Given the description of an element on the screen output the (x, y) to click on. 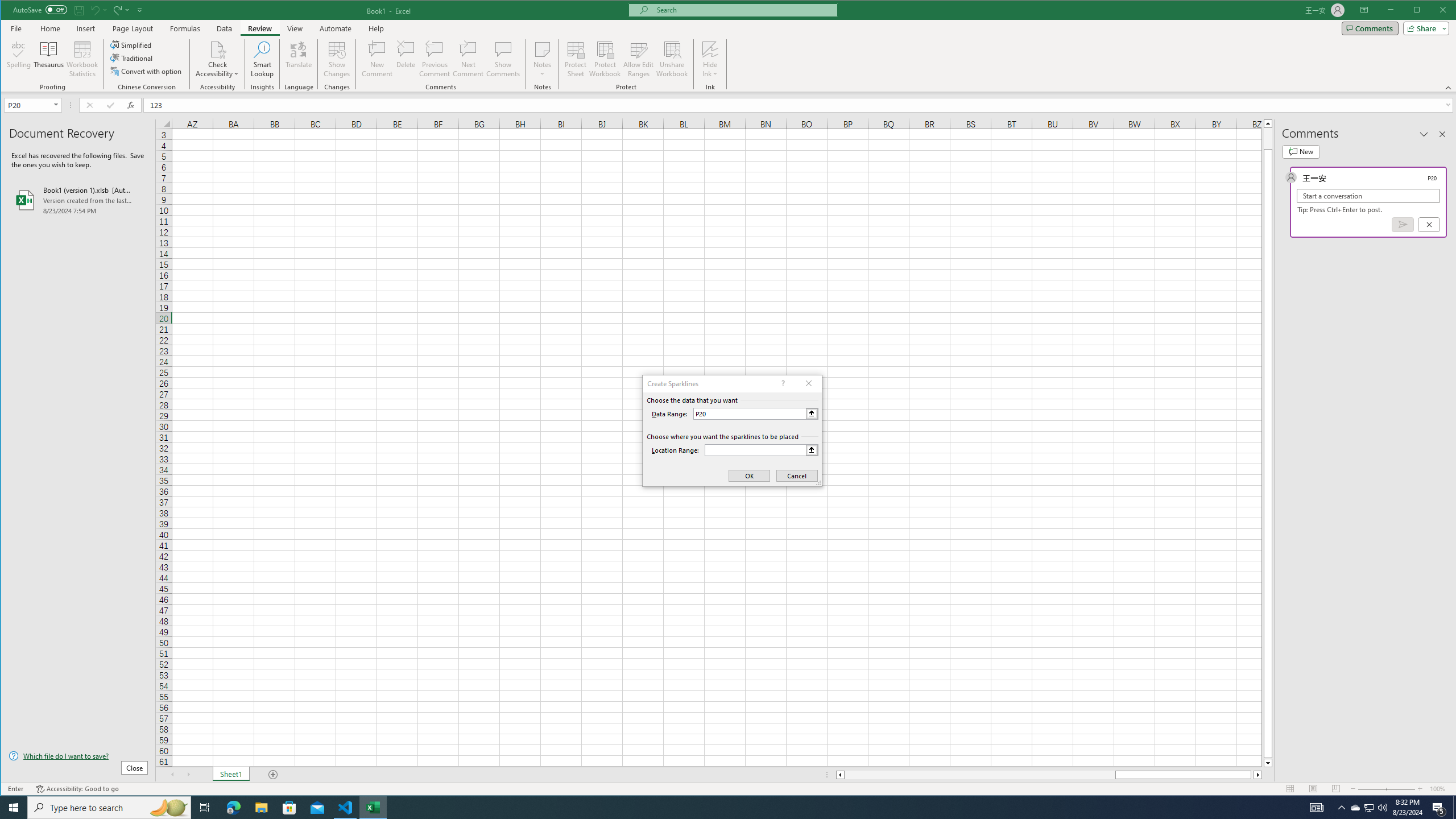
Share (1423, 27)
Quick Access Toolbar (79, 9)
Column right (1258, 774)
New comment (1300, 151)
Zoom In (1420, 788)
Convert with option (146, 70)
Which file do I want to save? (78, 755)
Hide Ink (710, 59)
Minimize (1419, 11)
Delete (405, 59)
Maximize (1432, 11)
Page up (1267, 138)
Protect Workbook... (604, 59)
Allow Edit Ranges (638, 59)
